Given the description of an element on the screen output the (x, y) to click on. 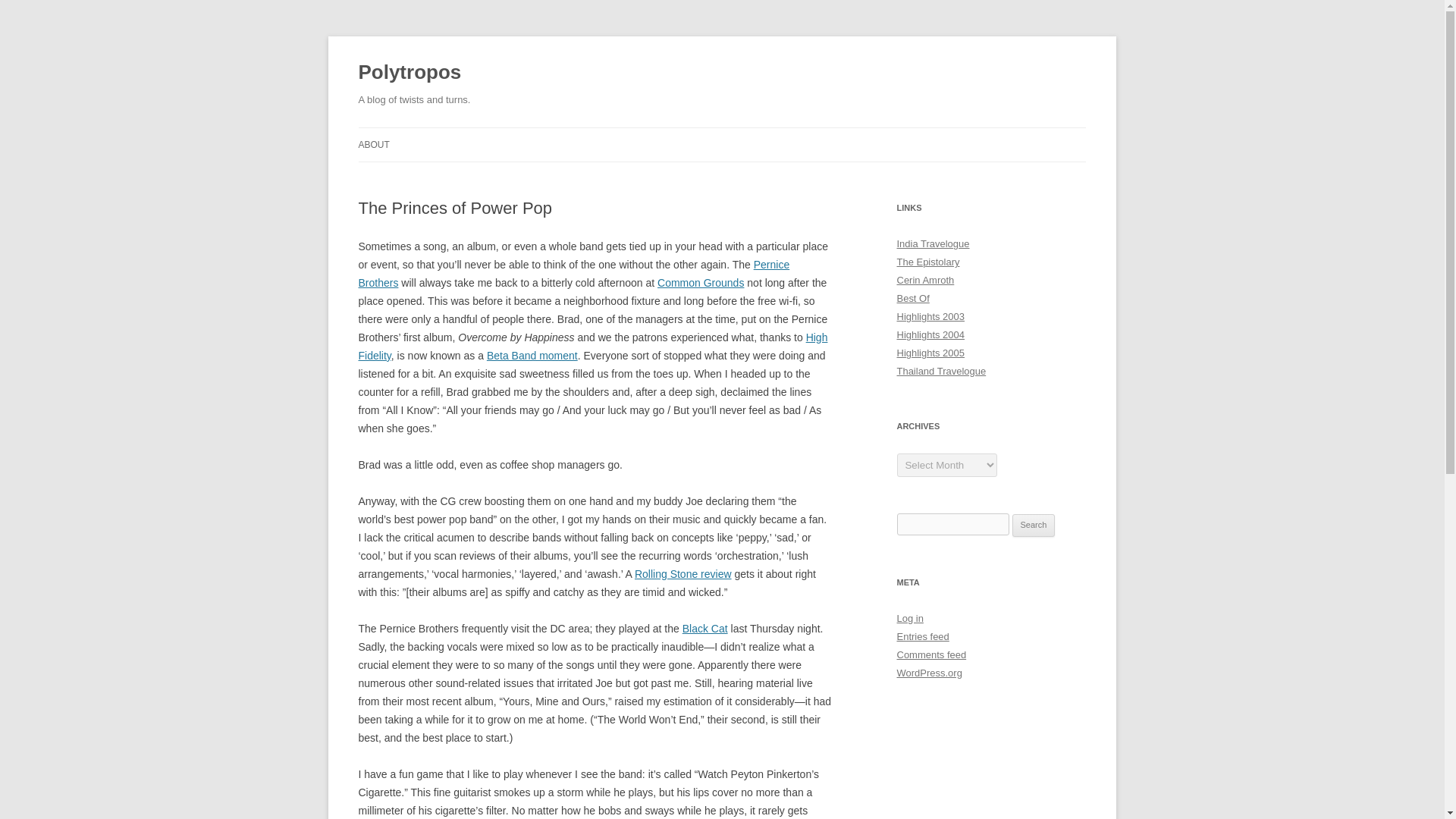
Beta Band moment (532, 355)
Highlights 2005 (929, 352)
Search (1033, 525)
Black Cat (705, 628)
Skip to content (757, 132)
India Travelogue (932, 243)
Thailand Travelogue (940, 370)
Rolling Stone review (683, 573)
Comments feed (931, 654)
Skip to content (757, 132)
Common Grounds (701, 282)
Entries feed (922, 636)
Cerin Amroth (924, 279)
Polytropos (409, 72)
Best Of (912, 297)
